Given the description of an element on the screen output the (x, y) to click on. 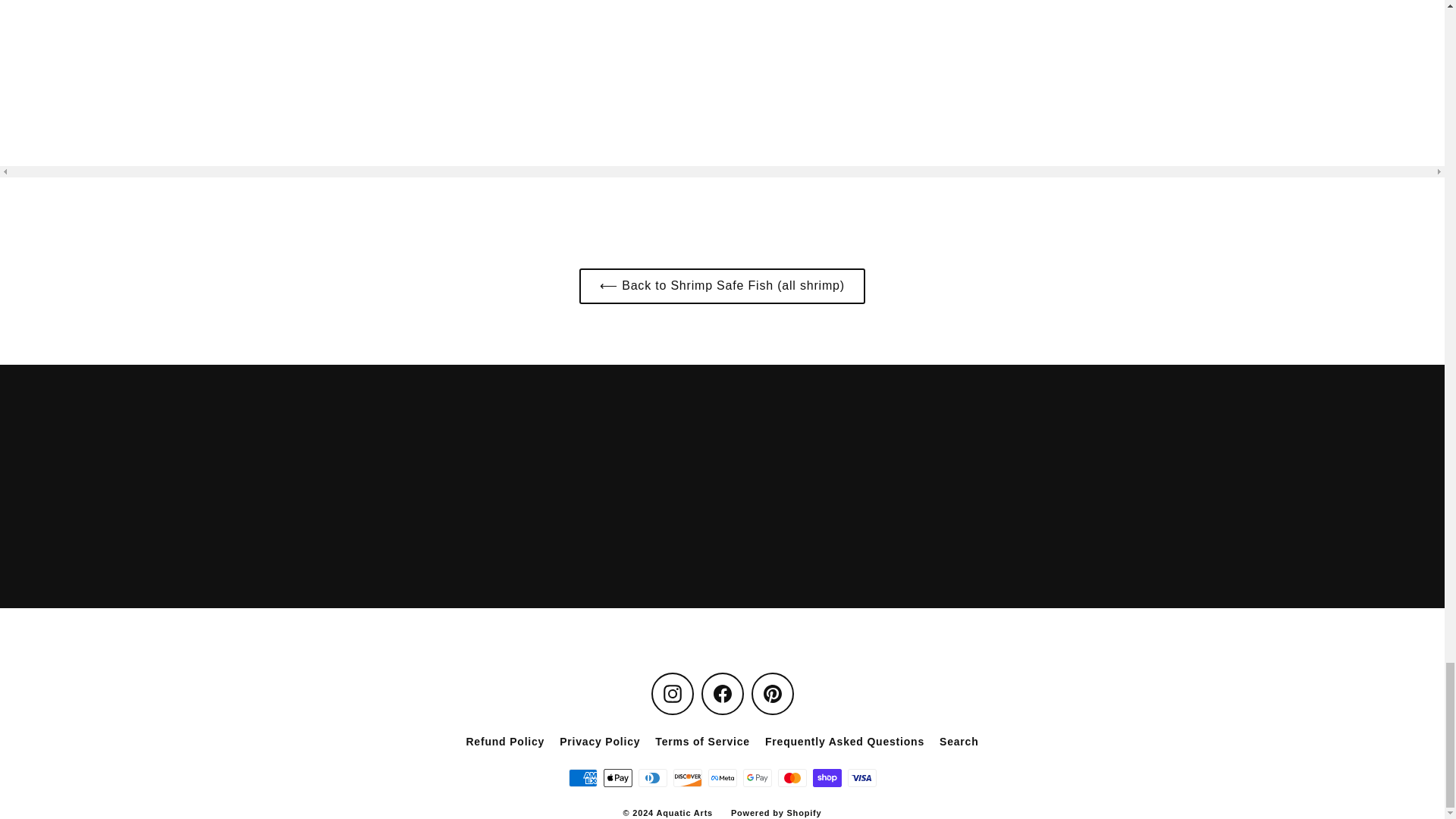
Mastercard (791, 778)
Aquatic Arts on Pinterest (772, 693)
Meta Pay (721, 778)
Diners Club (652, 778)
American Express (582, 778)
Aquatic Arts on Facebook (721, 693)
Google Pay (756, 778)
Discover (686, 778)
Shop Pay (826, 778)
Apple Pay (617, 778)
